Given the description of an element on the screen output the (x, y) to click on. 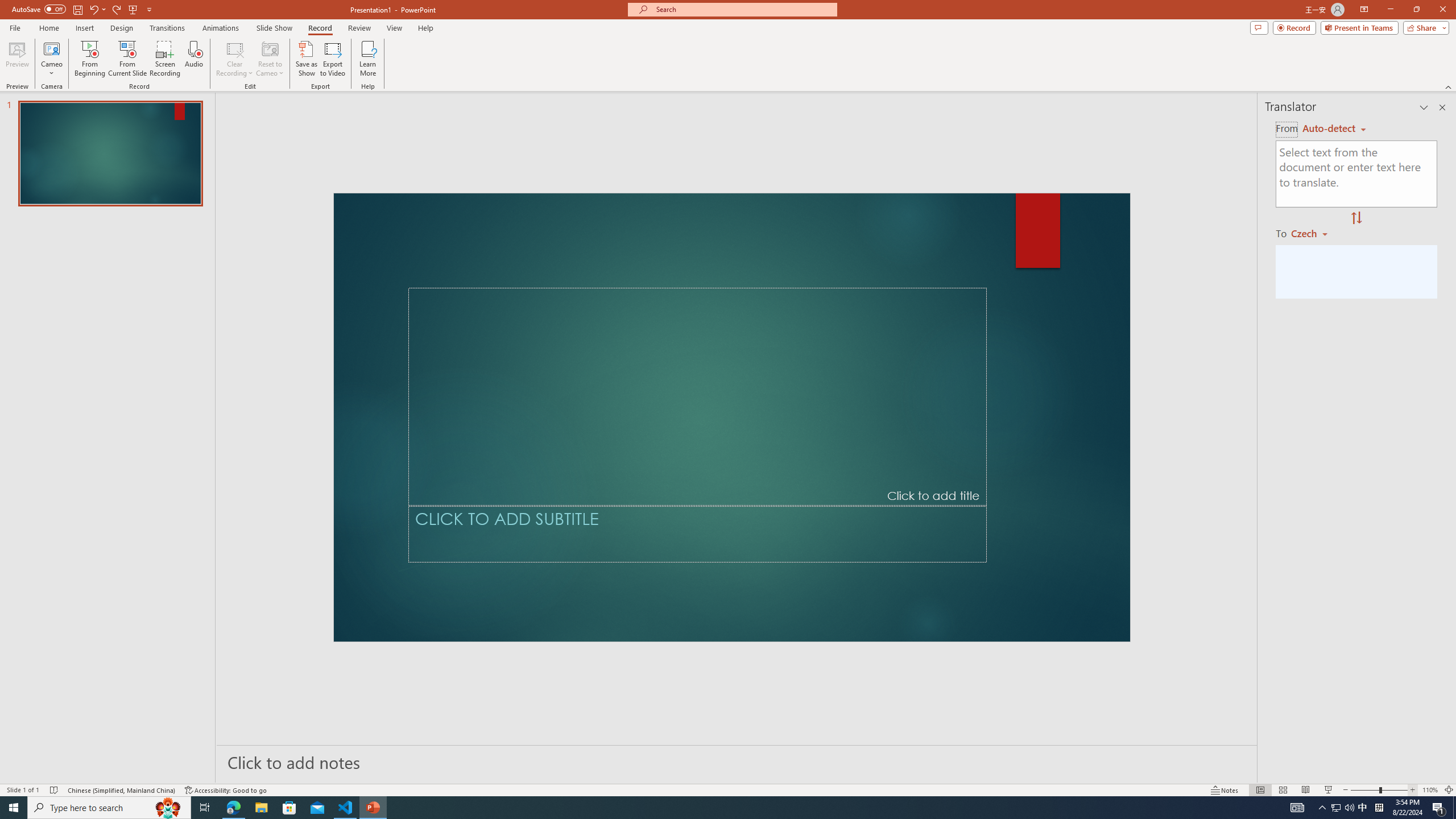
Export to Video (332, 58)
From Beginning... (89, 58)
From Current Slide... (127, 58)
